Given the description of an element on the screen output the (x, y) to click on. 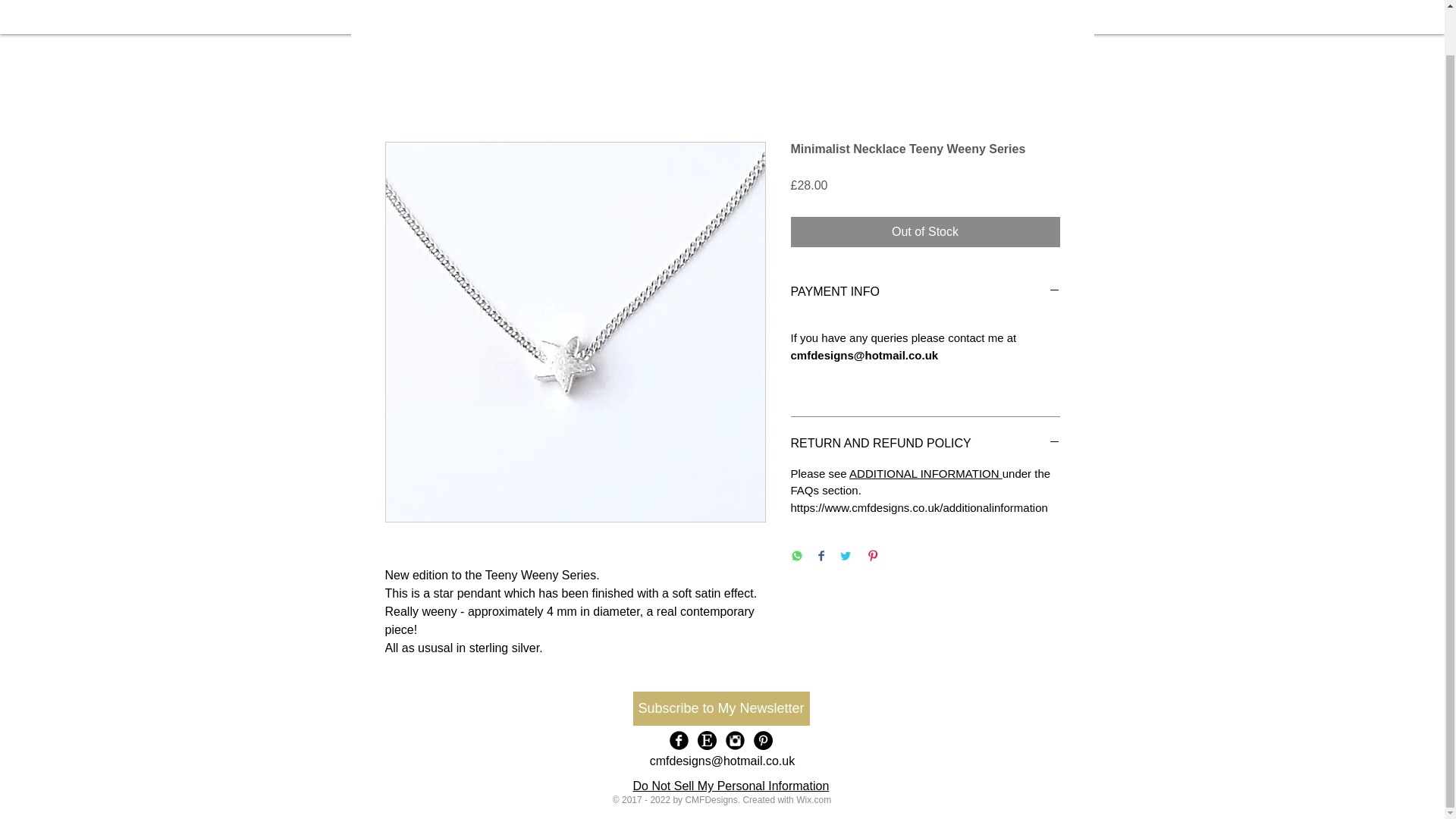
PAYMENT INFO (924, 291)
Do Not Sell My Personal Information (729, 786)
Subscribe to My Newsletter (720, 708)
Wix.com (813, 799)
RETURN AND REFUND POLICY (924, 443)
ADDITIONAL INFORMATION (925, 472)
Out of Stock (924, 232)
